Given the description of an element on the screen output the (x, y) to click on. 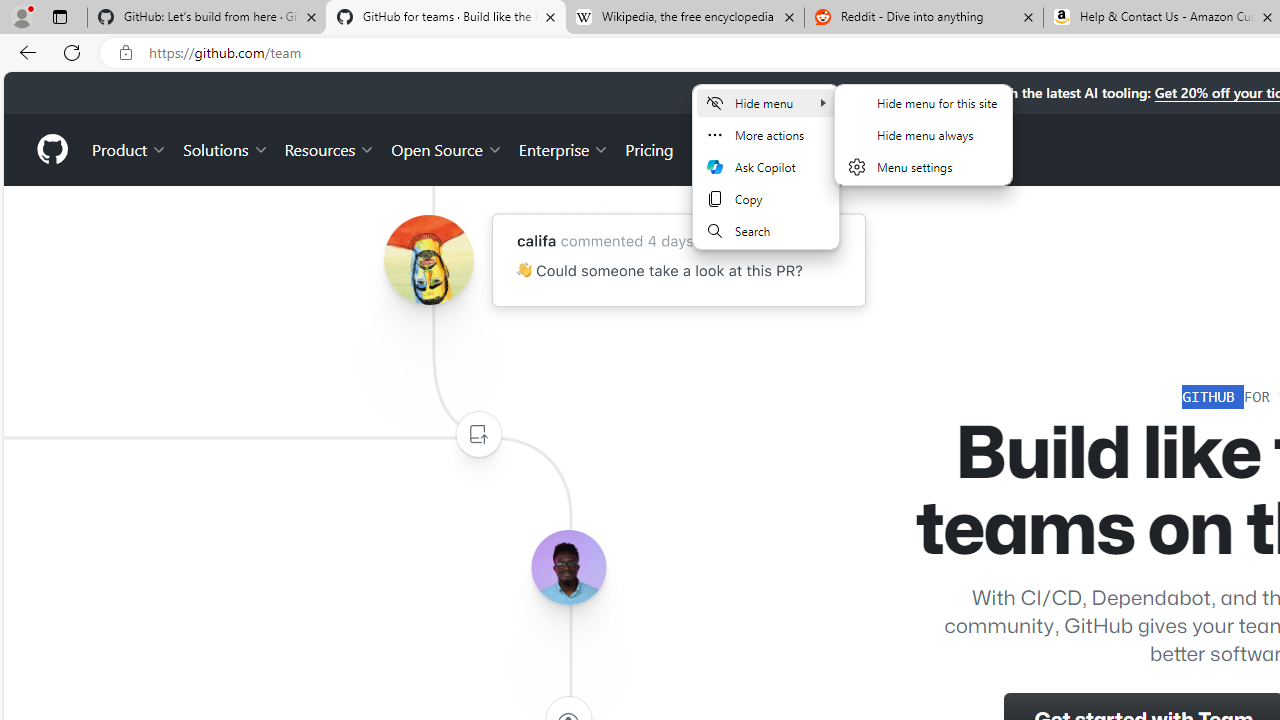
Hide menu (923, 146)
Hide menu always (923, 134)
Ask Copilot (765, 166)
Avatar of the user califa (428, 260)
More actions (765, 134)
Hide menu (923, 134)
